Given the description of an element on the screen output the (x, y) to click on. 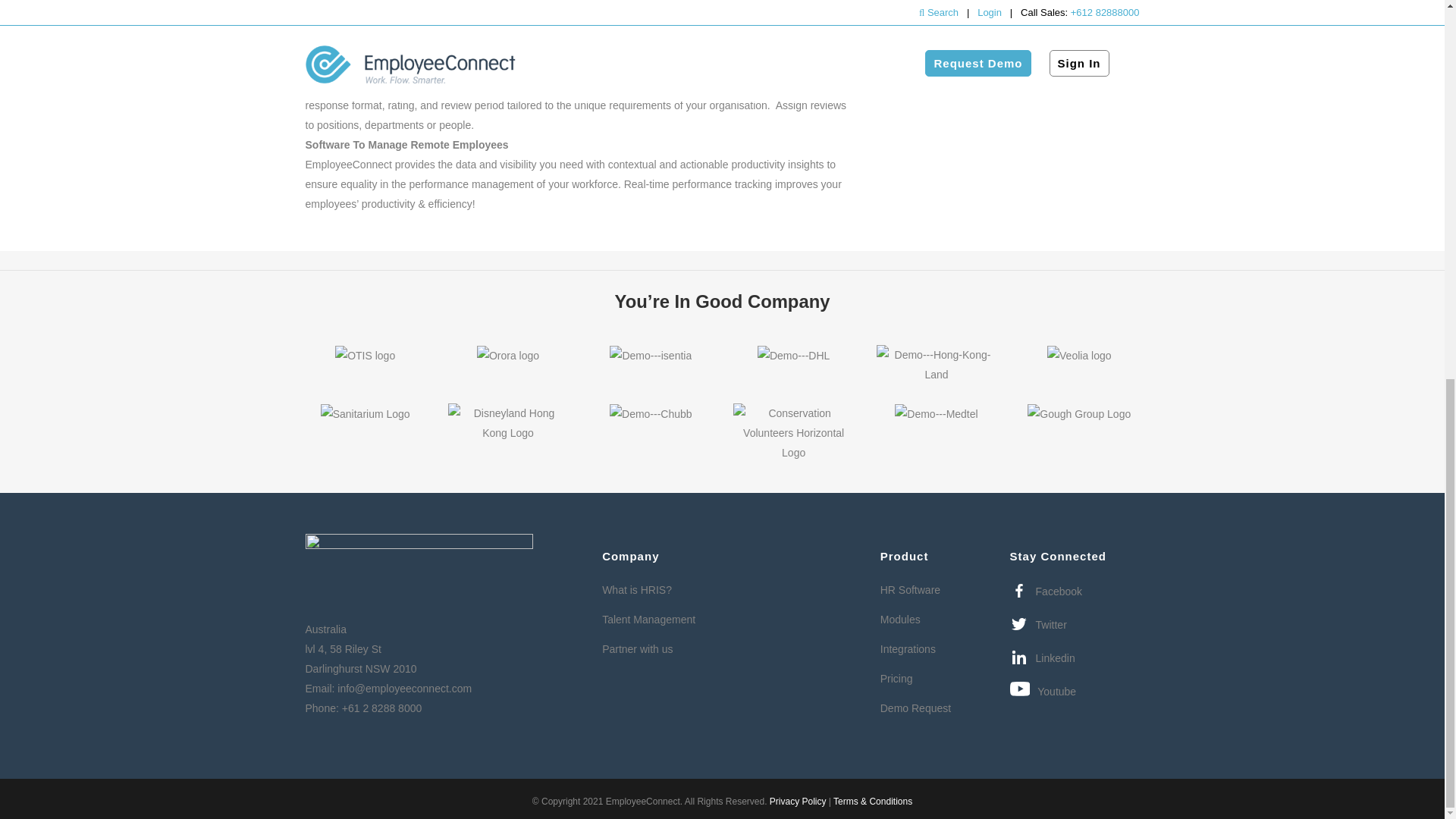
Twitter (1038, 624)
Demo---DHL (793, 355)
Demo---Hong-Kong-Land (935, 364)
Facebook (1045, 591)
Conservation-Volunteers-Horizontal (793, 432)
Demo---Medtel (935, 414)
LinkedIn (1042, 658)
YouTube (1043, 691)
Demo---Orora (507, 355)
Demo---Veola (1079, 355)
